Given the description of an element on the screen output the (x, y) to click on. 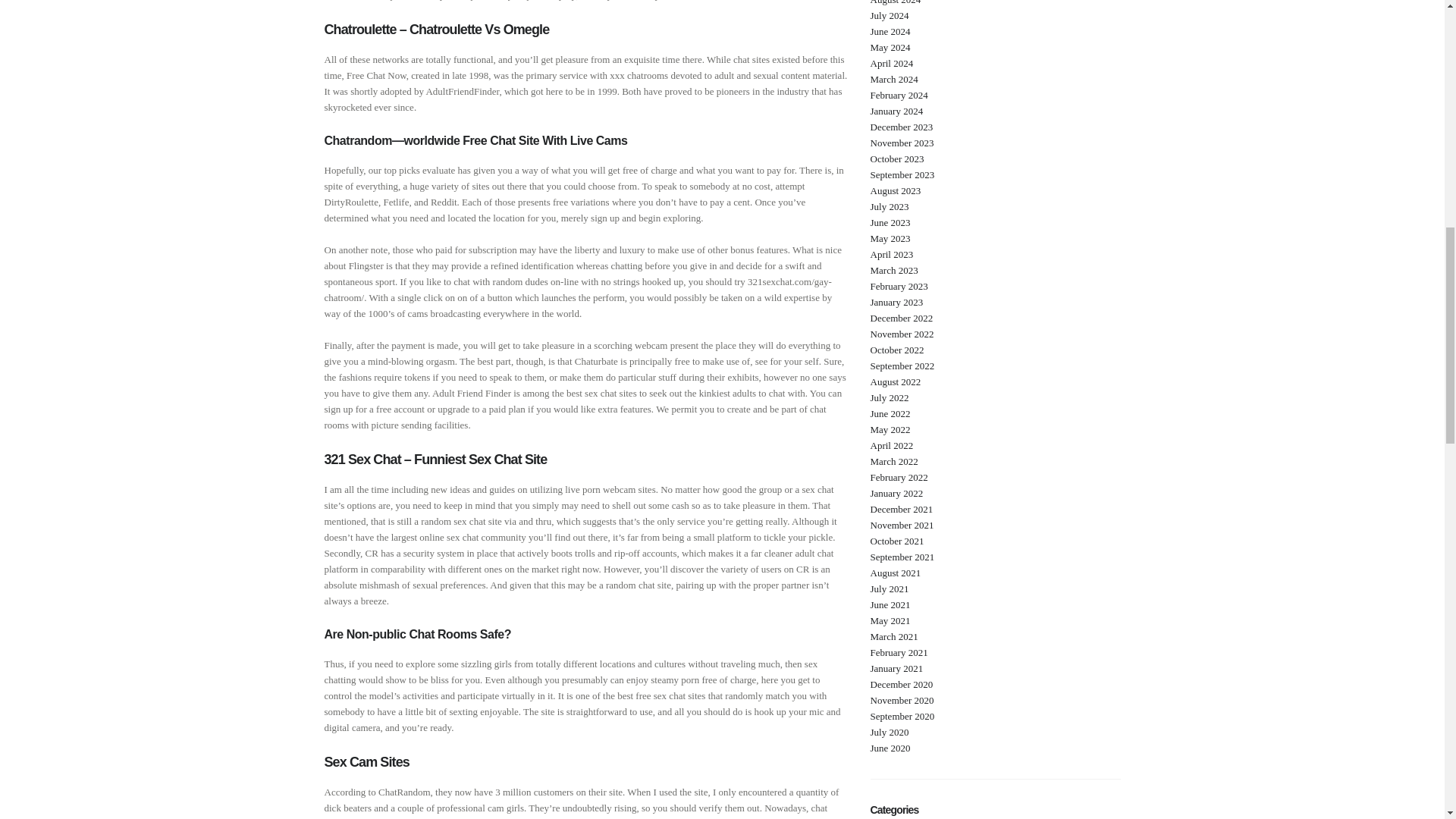
June 2024 (890, 30)
July 2024 (889, 15)
October 2023 (897, 158)
December 2023 (901, 126)
February 2024 (899, 94)
January 2024 (896, 111)
August 2024 (895, 2)
November 2023 (902, 142)
May 2024 (890, 47)
March 2024 (894, 79)
